Given the description of an element on the screen output the (x, y) to click on. 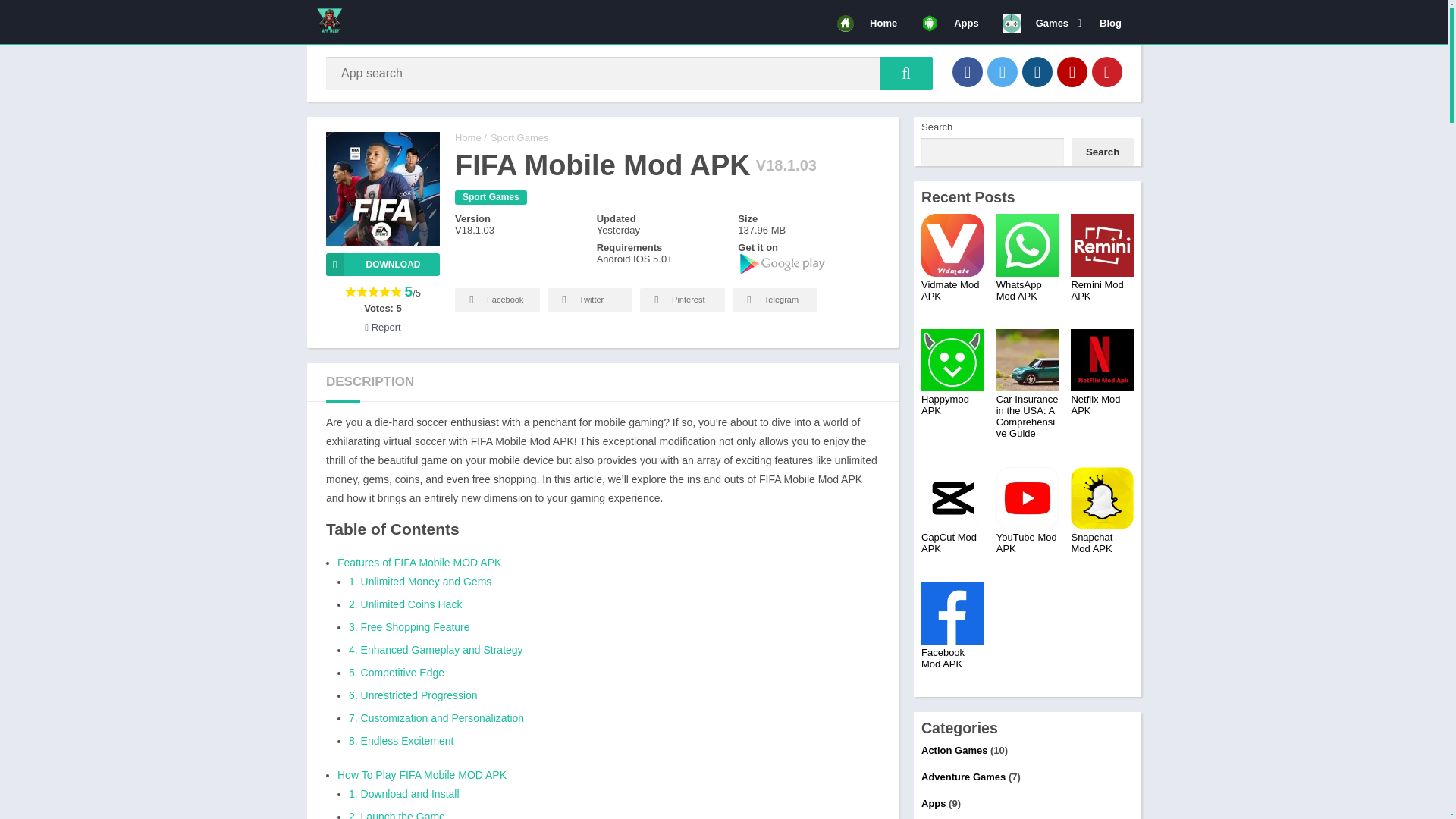
Twitter (1002, 71)
Apk Budy (467, 137)
YouTube (1072, 71)
Facebook (967, 71)
Facebook (497, 300)
Pinterest (1107, 71)
Download (382, 264)
Twitter (589, 300)
Home (467, 137)
Sport Games (490, 197)
Sport Games (519, 137)
Games (1039, 22)
Apps (949, 22)
Blog (1109, 22)
Home (866, 22)
